Given the description of an element on the screen output the (x, y) to click on. 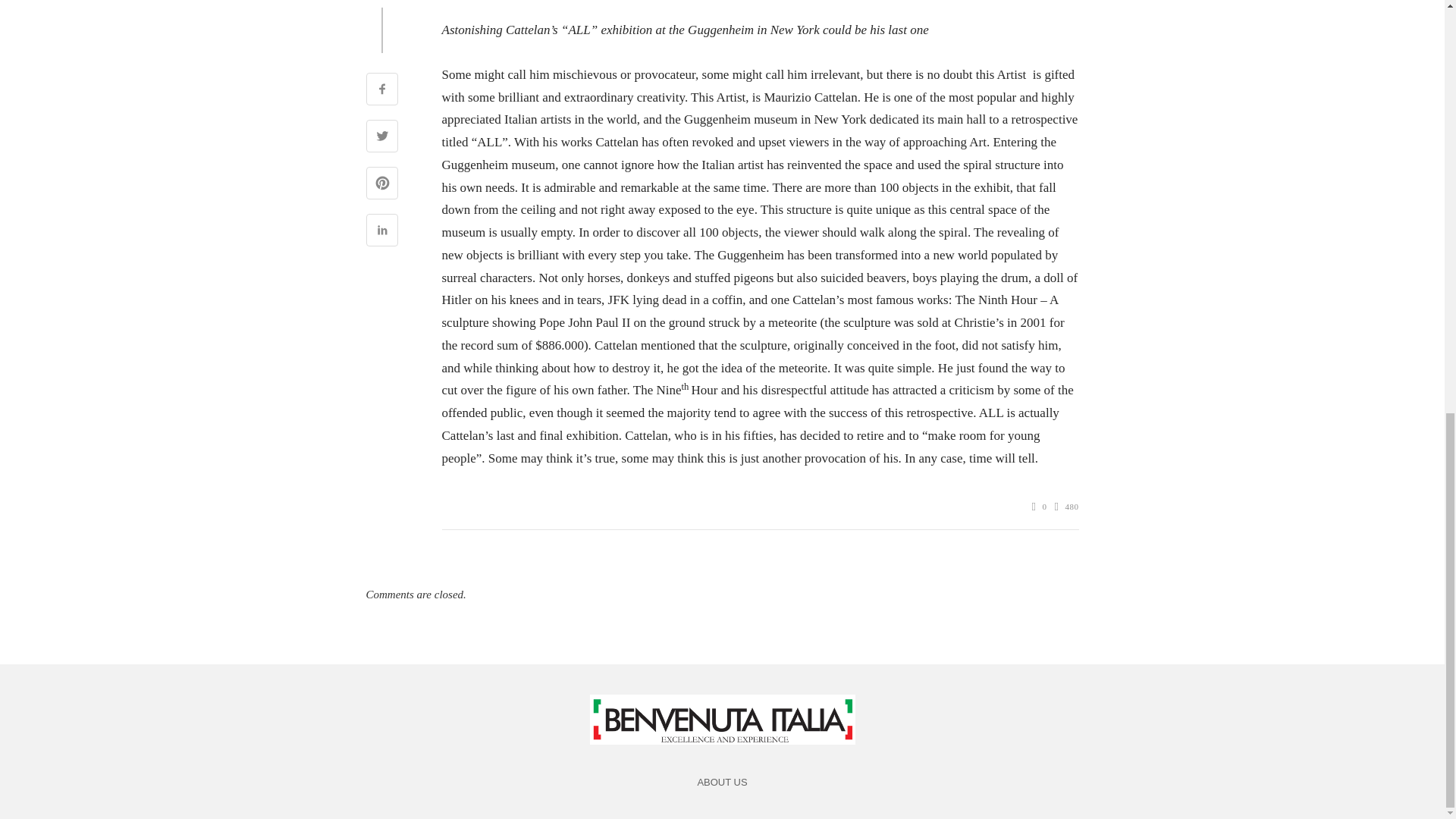
Share on Linkedin (381, 231)
ABOUT US (721, 782)
0 (1039, 506)
Share on Pinterest (381, 185)
Share on Twitter (381, 137)
Share on Facebook (381, 90)
480 (1066, 506)
